Given the description of an element on the screen output the (x, y) to click on. 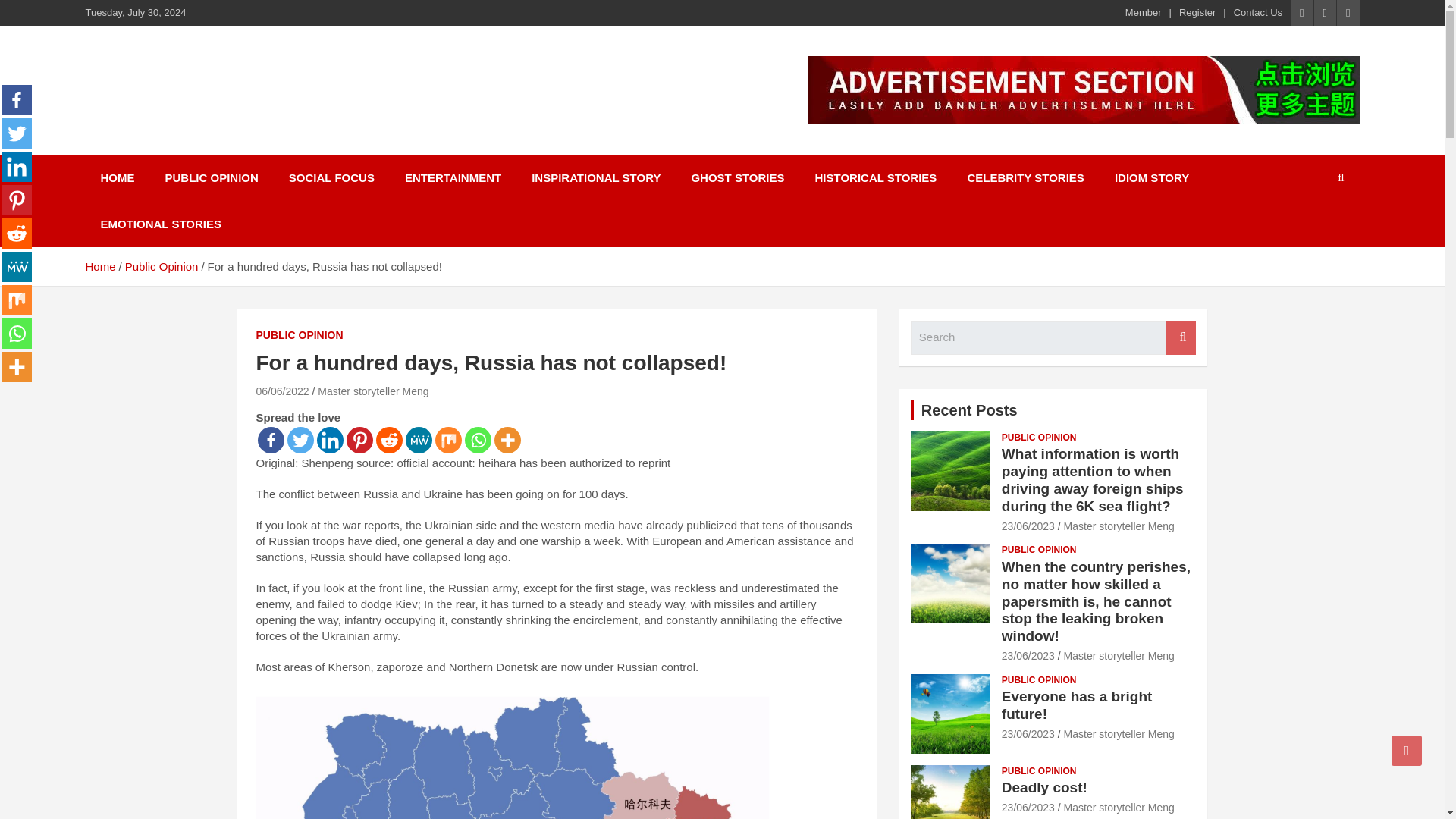
GHOST STORIES (737, 177)
Linkedin (16, 166)
Contact Us (1257, 12)
Reddit (16, 233)
Master storyteller Meng (372, 390)
Reddit (389, 439)
IDIOM STORY (1151, 177)
CELEBRITY STORIES (1025, 177)
Pinterest (359, 439)
Twitter (16, 132)
SOCIAL FOCUS (331, 177)
Home (99, 266)
Chinese Stories (199, 82)
Member (1143, 12)
PUBLIC OPINION (211, 177)
